Given the description of an element on the screen output the (x, y) to click on. 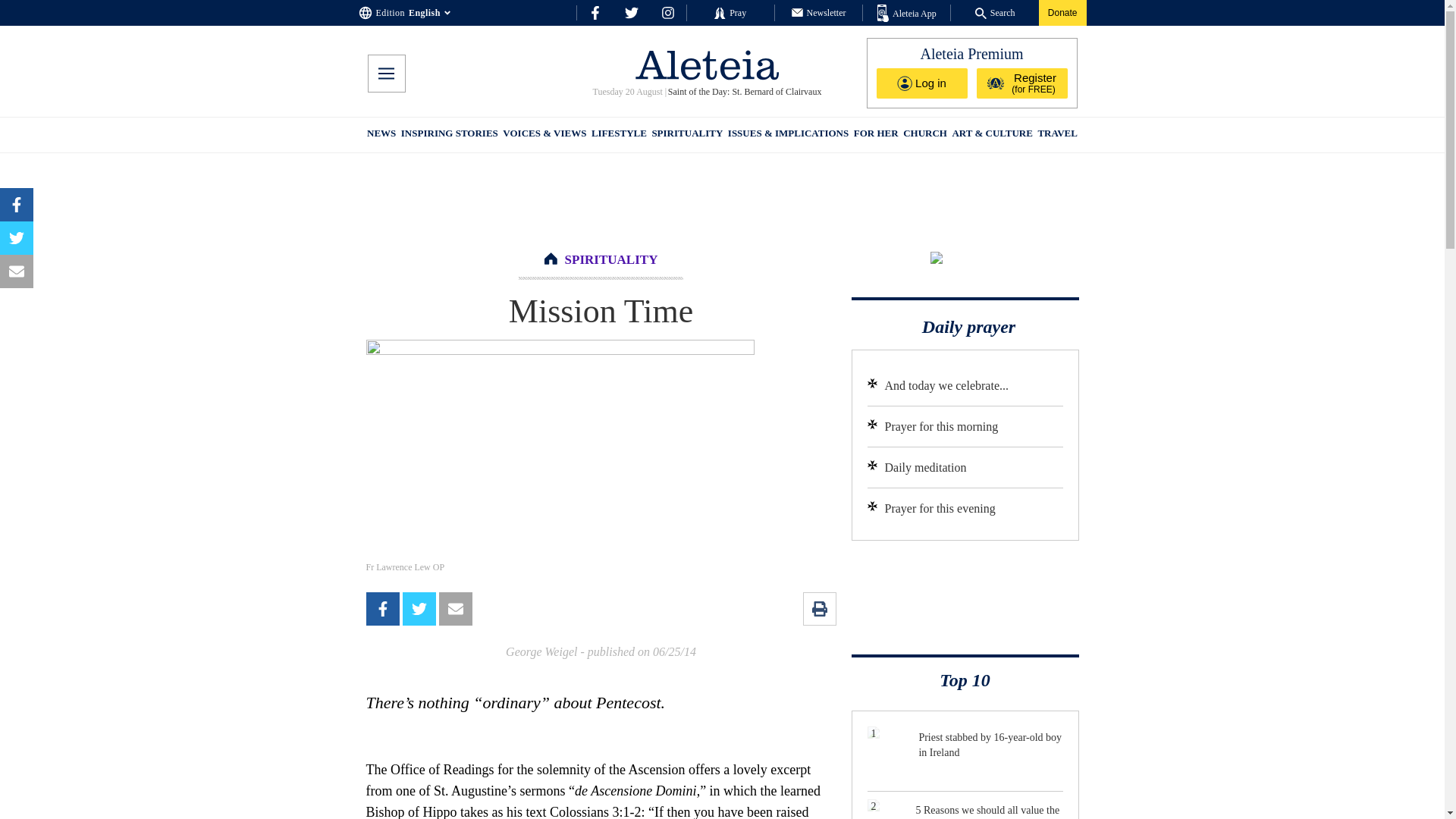
mobile-menu-btn (385, 73)
TRAVEL (1056, 134)
CHURCH (924, 134)
Saint of the Day: St. Bernard of Clairvaux (743, 91)
Search (994, 12)
Aleteia App (906, 13)
INSPIRING STORIES (449, 134)
social-tw-top-row (631, 12)
social-ig-top-row (668, 12)
George Weigel (540, 651)
